Given the description of an element on the screen output the (x, y) to click on. 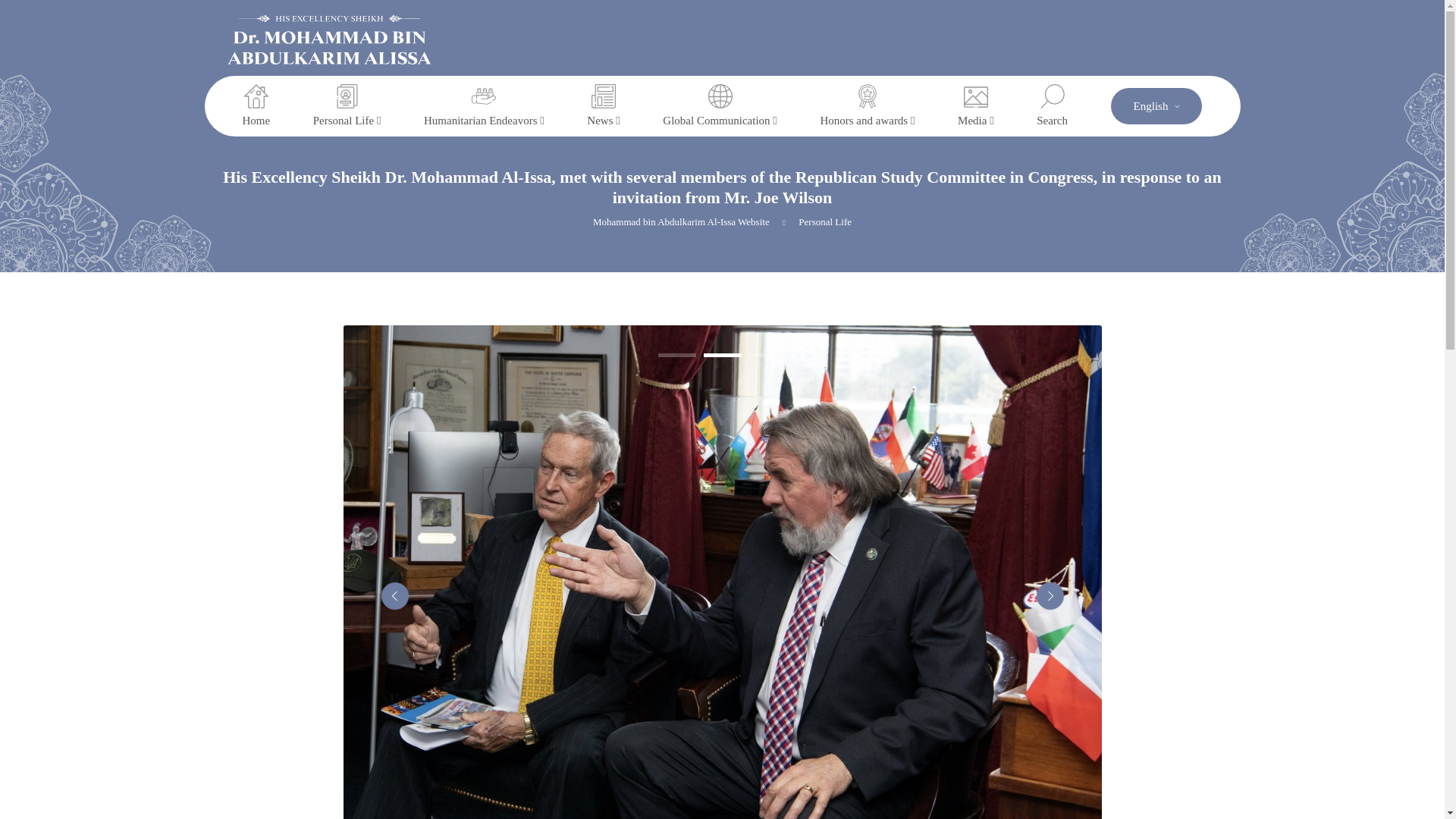
Global Communication (719, 105)
Humanitarian Endeavors (483, 105)
Honors and awards (866, 105)
Personal Life (347, 105)
English (1156, 105)
